Given the description of an element on the screen output the (x, y) to click on. 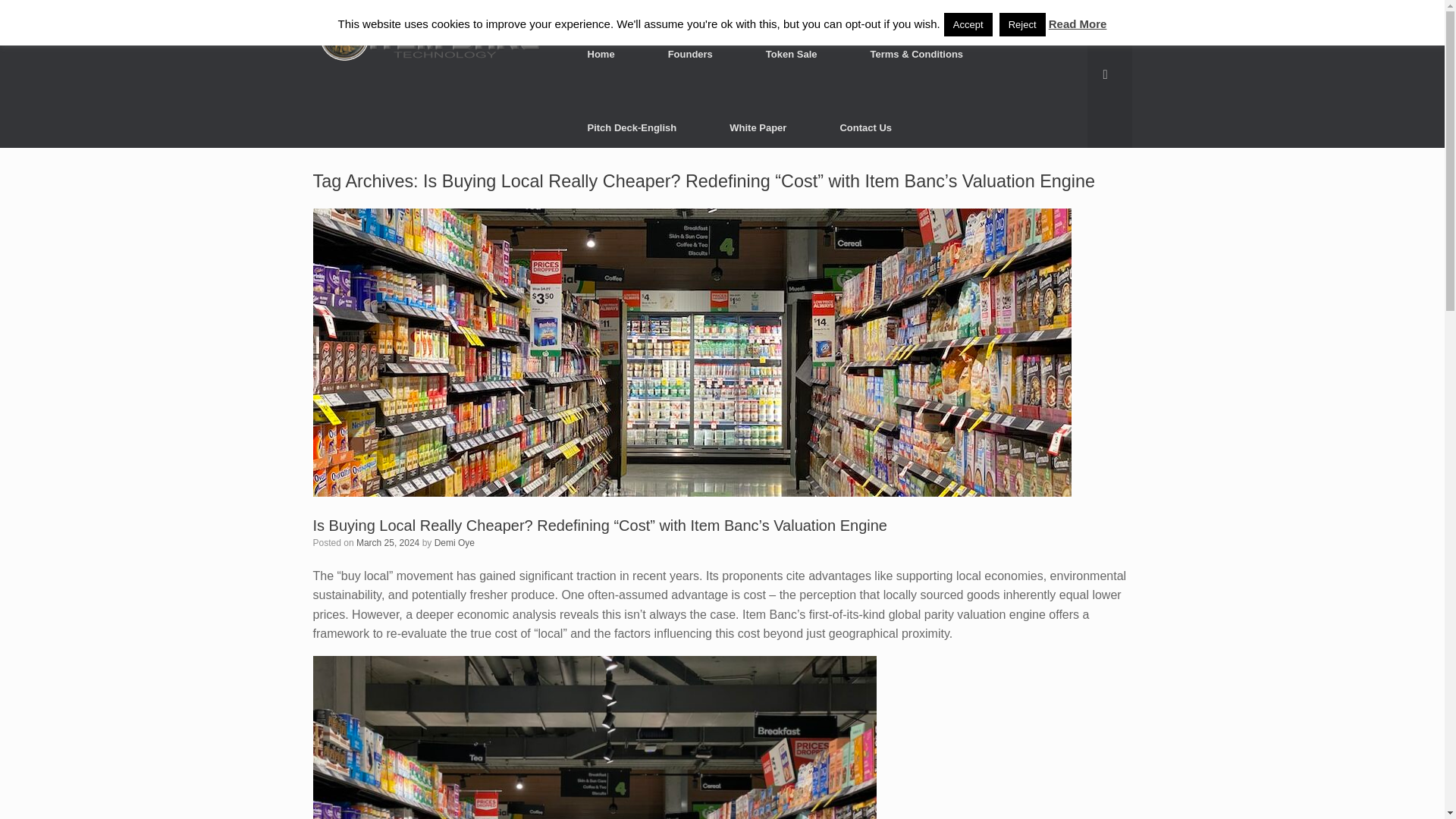
Token Sale (791, 53)
View all posts by Demi Oye (453, 542)
Read More (1077, 23)
Demi Oye (453, 542)
Pitch Deck-English (631, 127)
White Paper (757, 127)
Contact Us (865, 127)
March 25, 2024 (387, 542)
ItemBanc (430, 38)
Reject (1021, 24)
Founders (690, 53)
Accept (967, 24)
11:44 am (387, 542)
Home (601, 53)
